Given the description of an element on the screen output the (x, y) to click on. 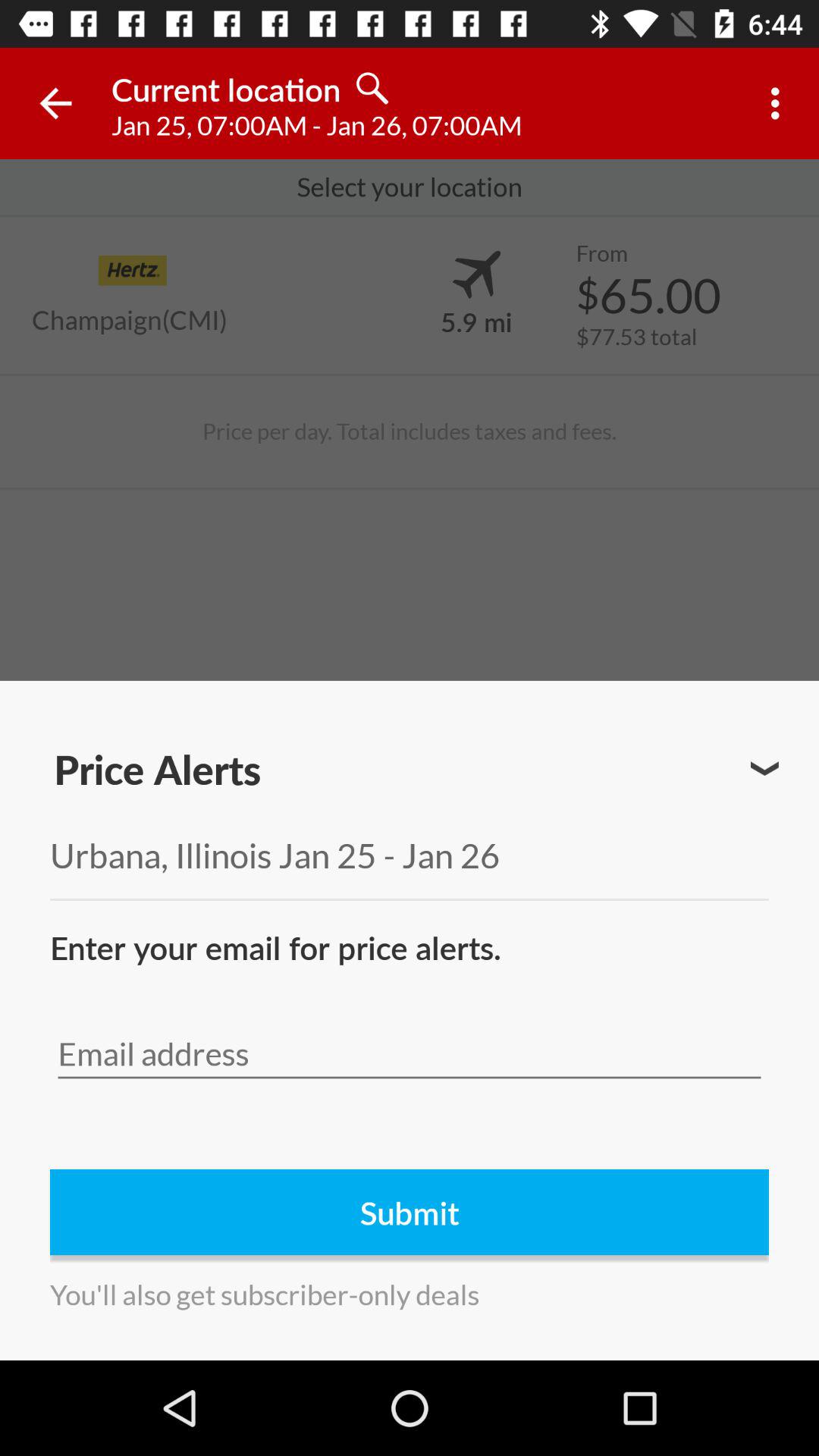
toggle price alert (764, 768)
